Given the description of an element on the screen output the (x, y) to click on. 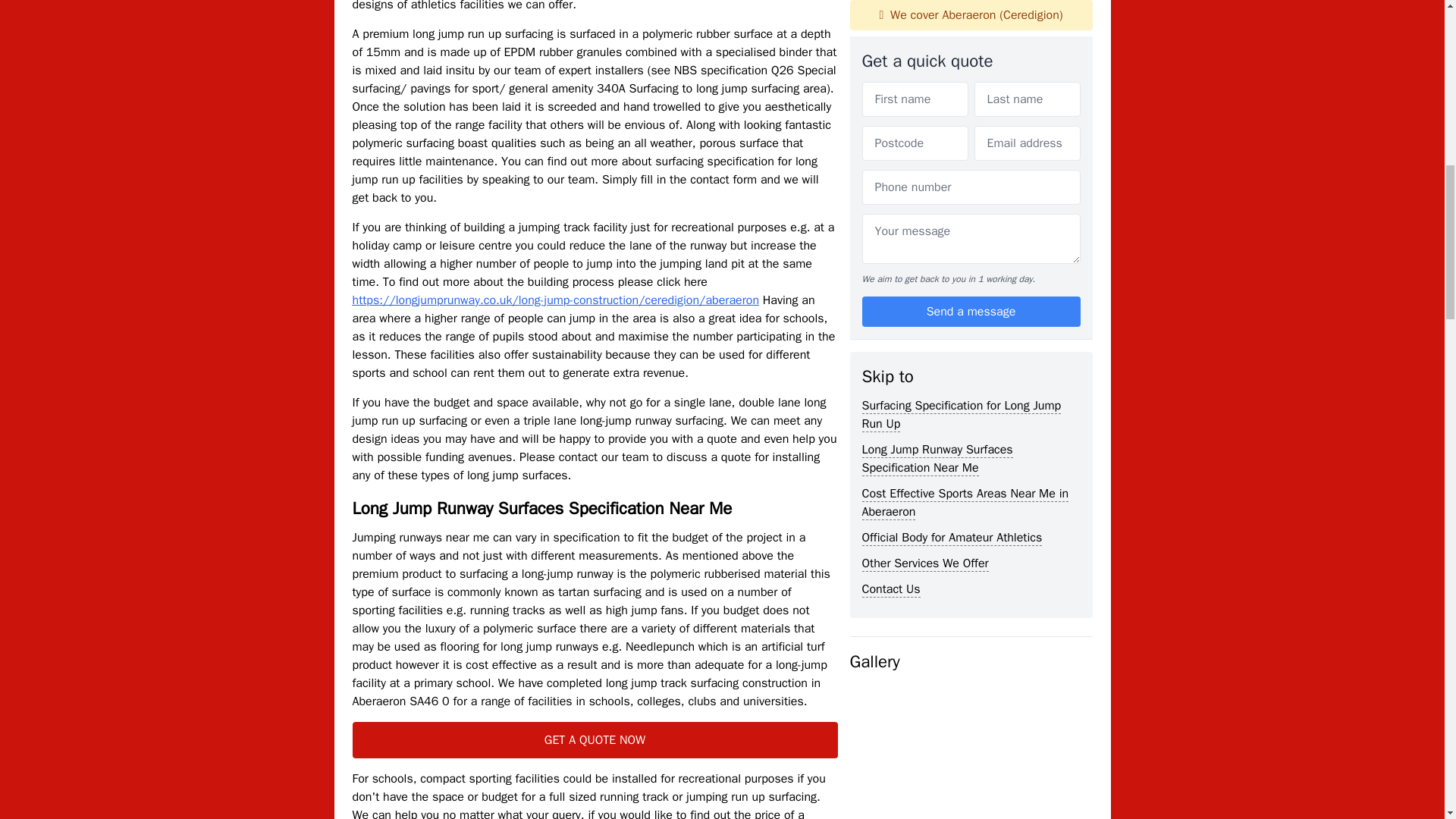
Surfacing Specification for Long Jump Run Up (961, 33)
Official Body for Amateur Athletics (951, 156)
Cost Effective Sports Areas Near Me in Aberaeron (964, 121)
Long Jump Runway Surfaces Specification Near Me (936, 77)
GET A QUOTE NOW (594, 739)
Other Services We Offer (924, 182)
Contact Us (890, 207)
